Given the description of an element on the screen output the (x, y) to click on. 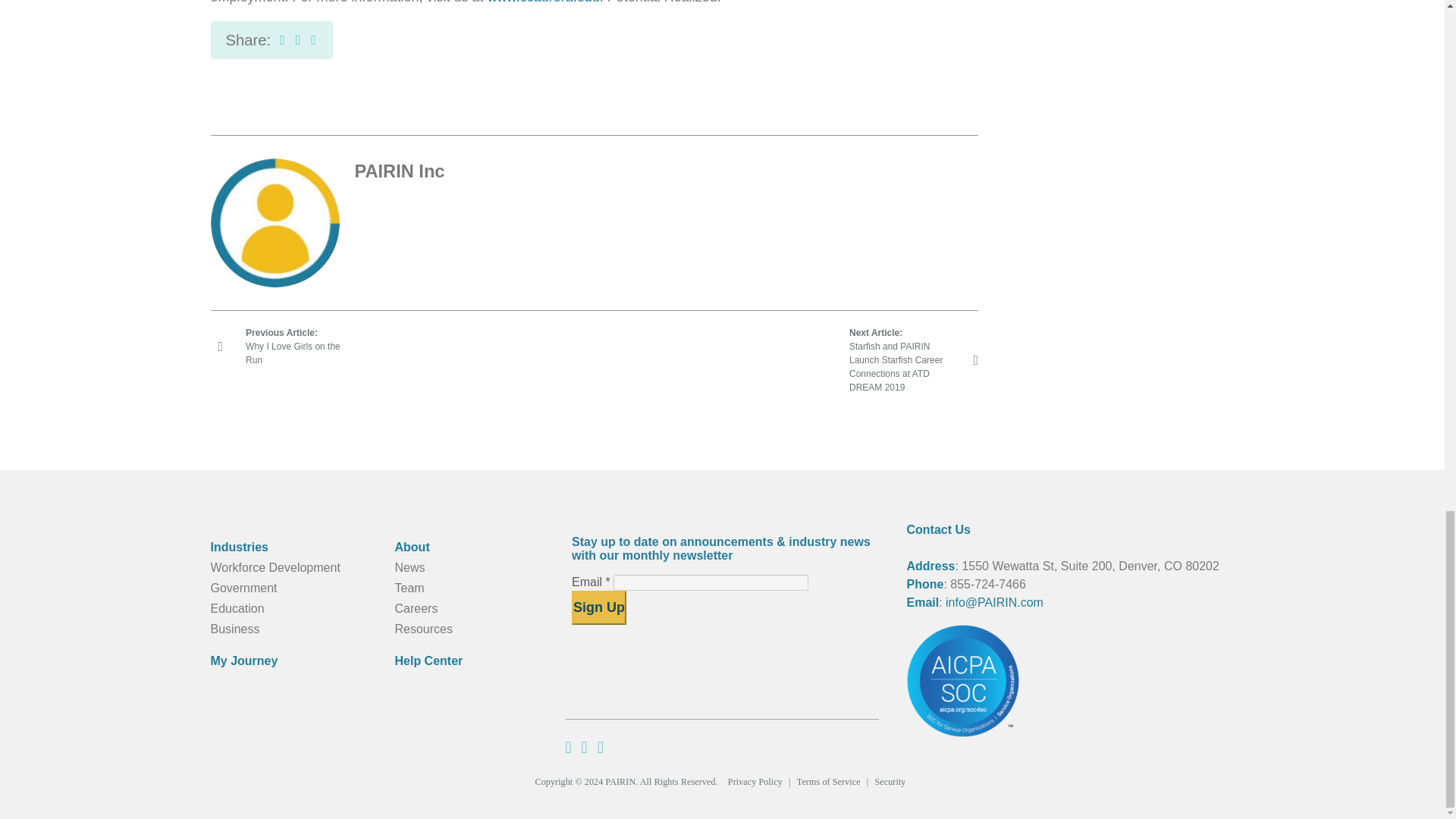
www.ccaurora.edu (282, 345)
